Given the description of an element on the screen output the (x, y) to click on. 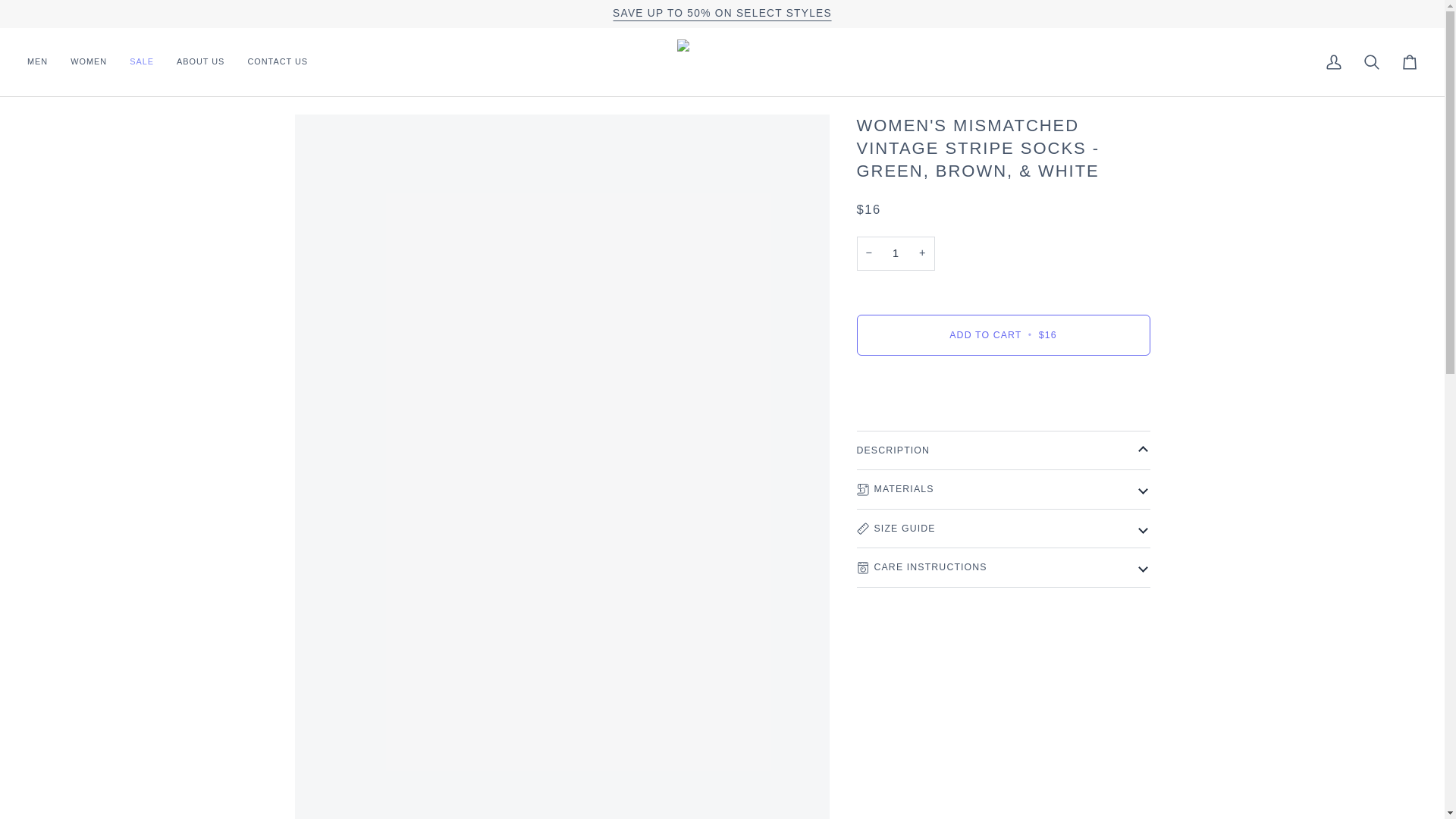
1 (895, 253)
CONTACT US (276, 61)
Sale (721, 12)
ABOUT US (200, 61)
